Given the description of an element on the screen output the (x, y) to click on. 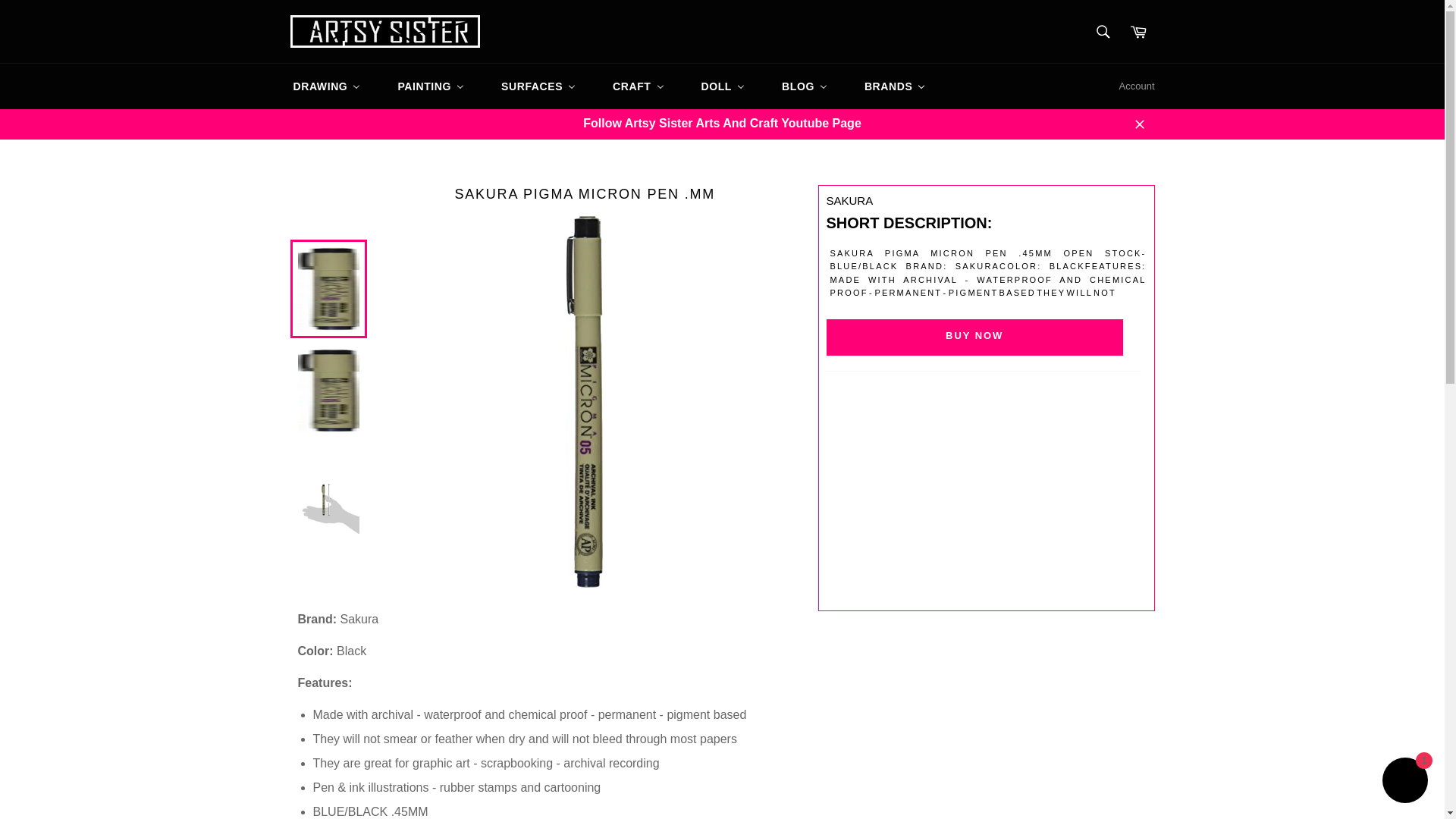
Advertisement (982, 492)
